Given the description of an element on the screen output the (x, y) to click on. 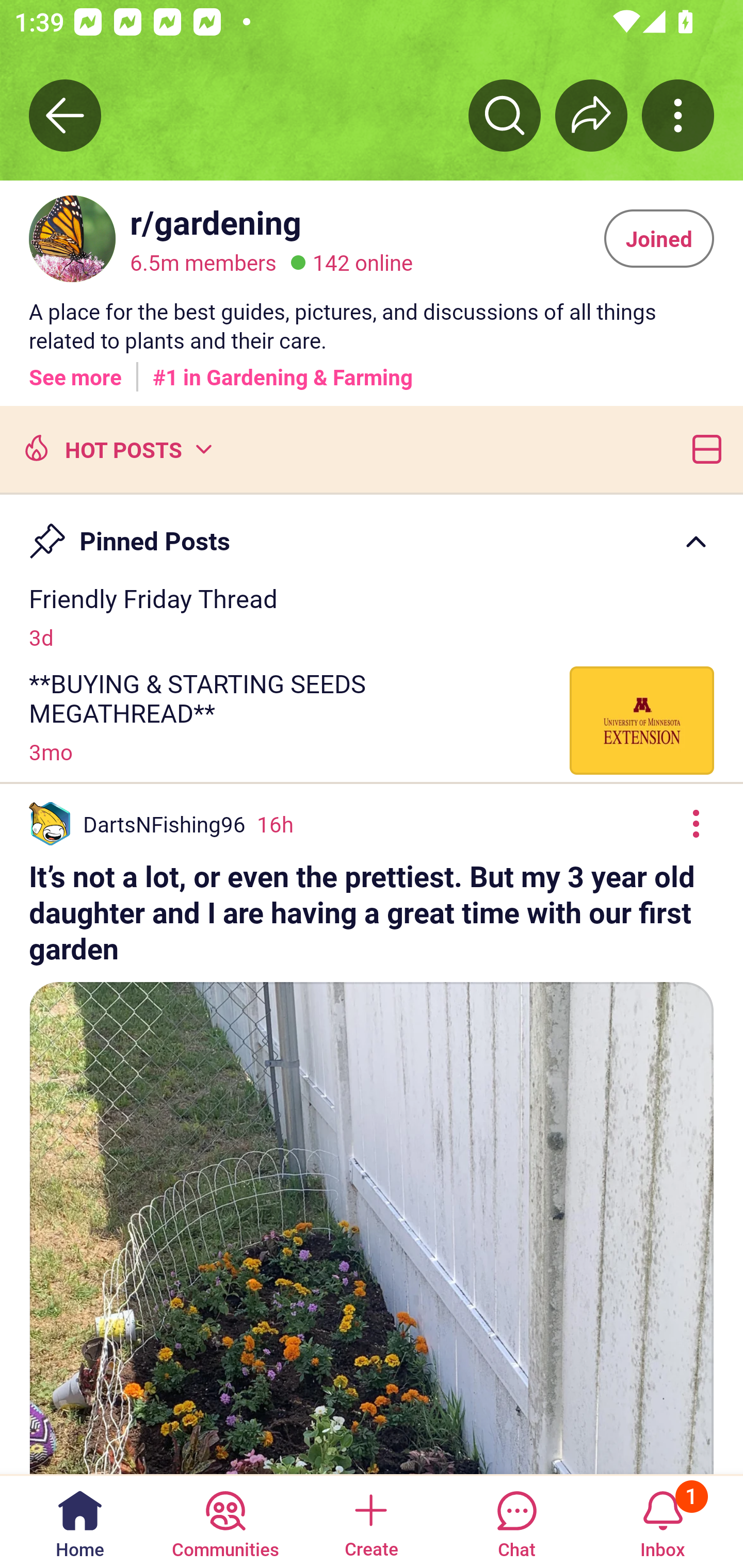
Back (64, 115)
Search r/﻿gardening (504, 115)
Share r/﻿gardening (591, 115)
More community actions (677, 115)
Hot posts HOT POSTS (116, 448)
Card (703, 448)
Pin Pinned Posts Caret (371, 531)
Friendly Friday Thread 3d (371, 615)
Home (80, 1520)
Communities (225, 1520)
Create a post Create (370, 1520)
Chat (516, 1520)
Inbox, has 1 notification 1 Inbox (662, 1520)
